Given the description of an element on the screen output the (x, y) to click on. 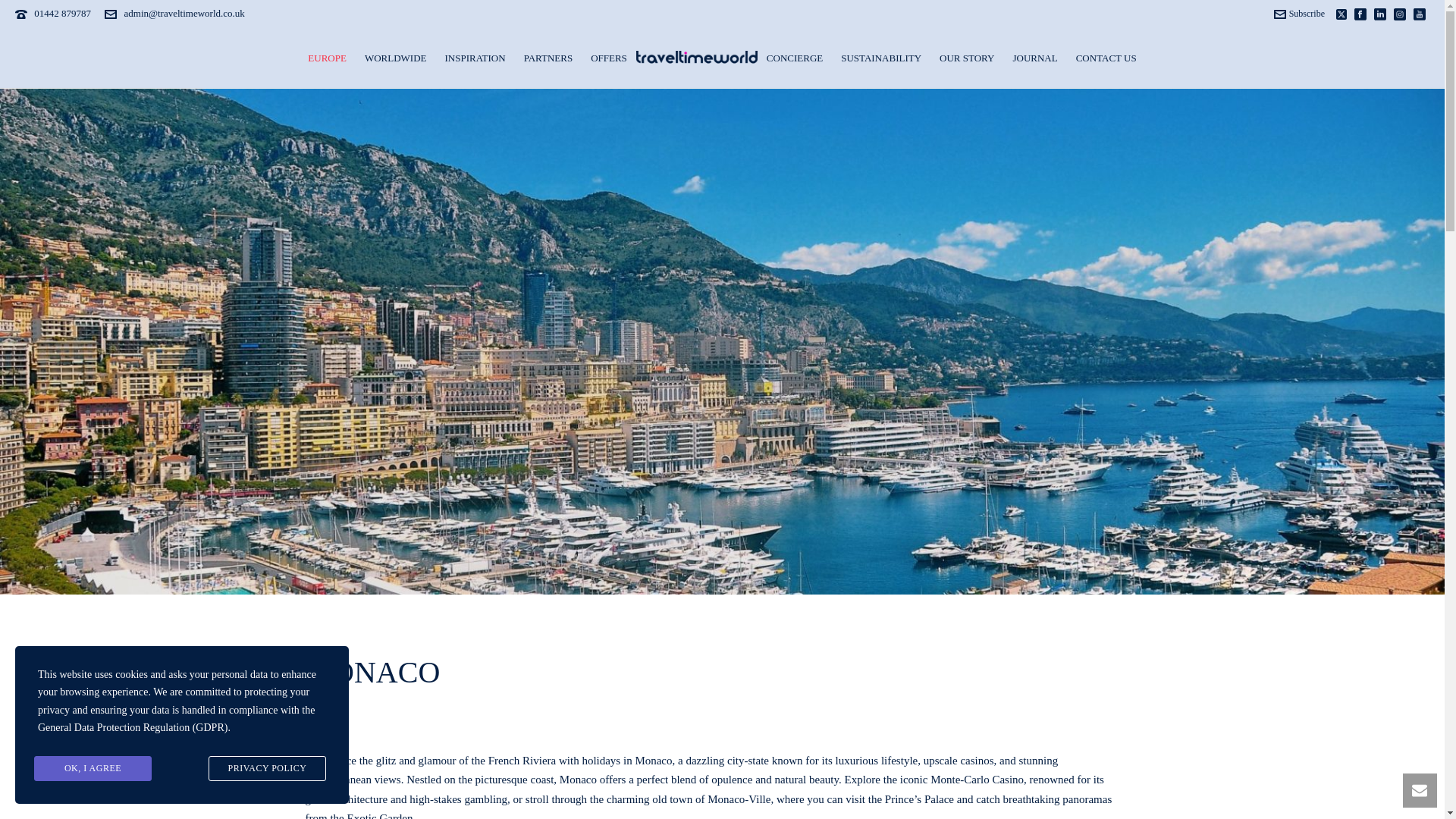
OUR STORY (966, 56)
01442 879787 (61, 12)
Subscribe (1299, 13)
PARTNERS (548, 56)
CONTACT US (1106, 56)
OFFERS (608, 56)
EUROPE (326, 56)
CONCIERGE (794, 56)
SUSTAINABILITY (880, 56)
JOURNAL (1034, 56)
